Given the description of an element on the screen output the (x, y) to click on. 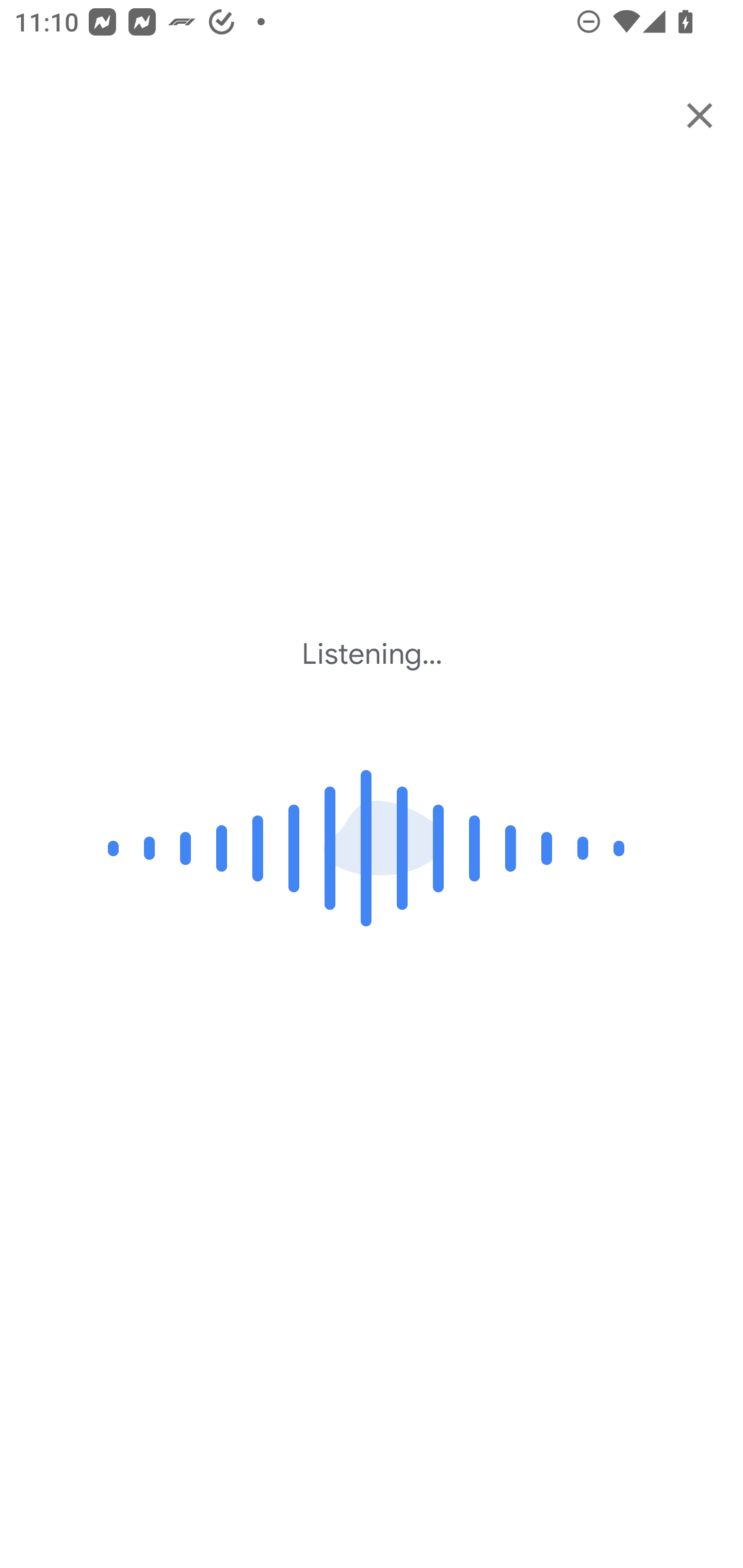
Close (699, 115)
